Given the description of an element on the screen output the (x, y) to click on. 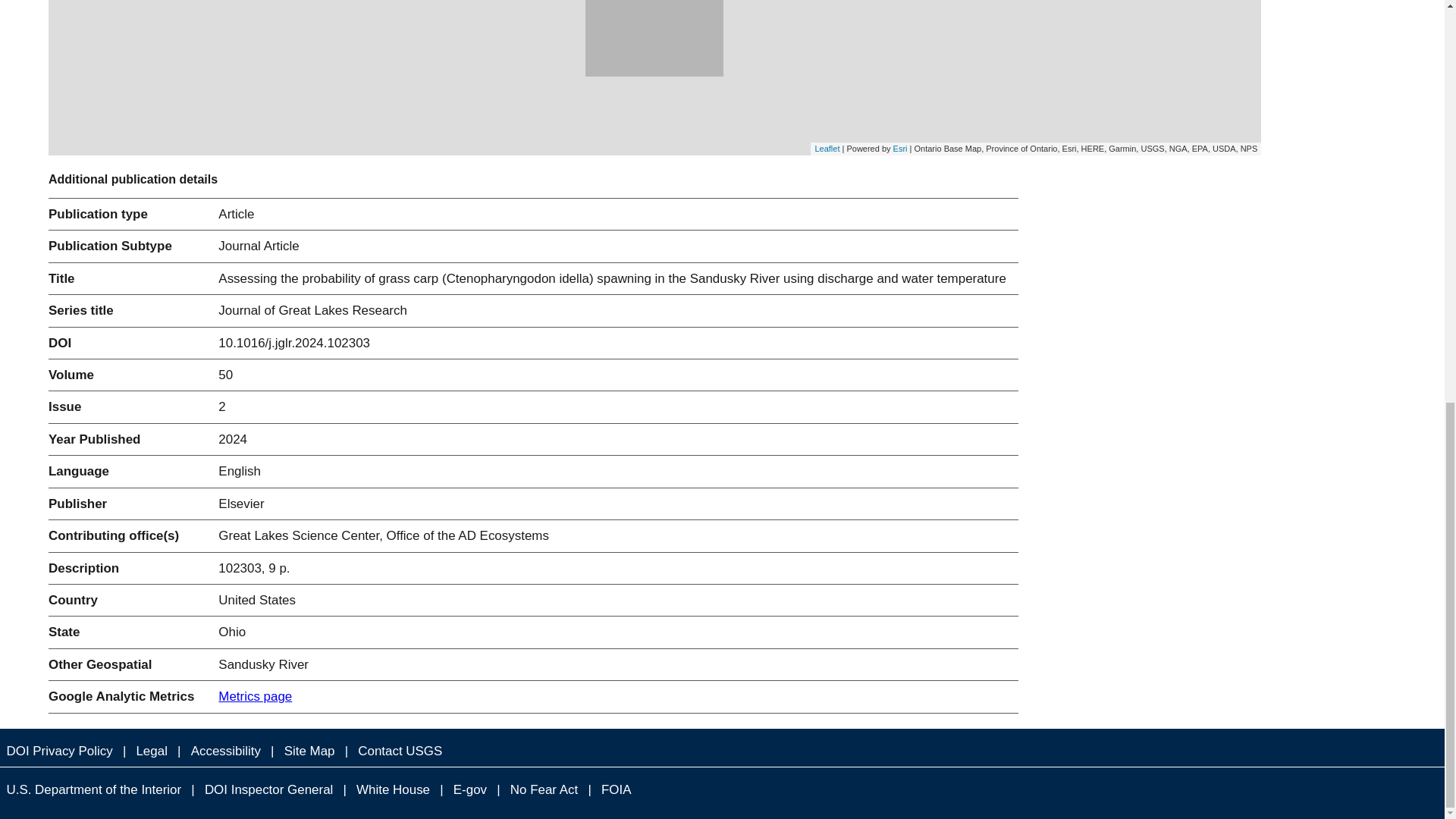
E-gov (469, 789)
Accessibility (225, 751)
Contact USGS (400, 751)
U.S. Department of the Interior (93, 789)
Legal (151, 751)
Metrics page (255, 696)
White House (393, 789)
A JS library for interactive maps (826, 148)
DOI Privacy Policy (59, 751)
FOIA (616, 789)
Site Map (309, 751)
No Fear Act (543, 789)
DOI Inspector General (268, 789)
Esri (900, 148)
Leaflet (826, 148)
